Given the description of an element on the screen output the (x, y) to click on. 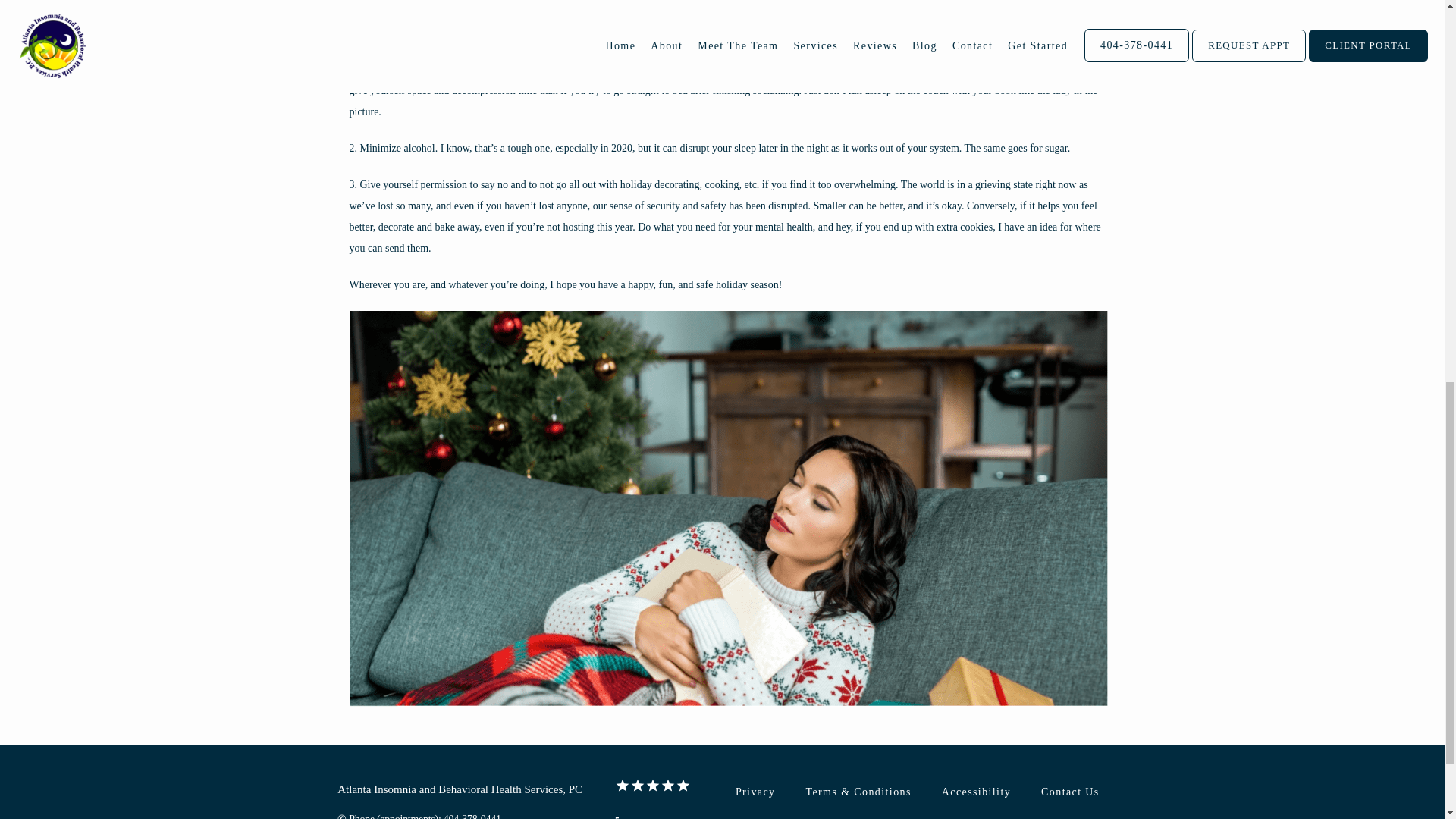
Contact Us (1070, 791)
Privacy (755, 791)
Accessibility (976, 791)
